Given the description of an element on the screen output the (x, y) to click on. 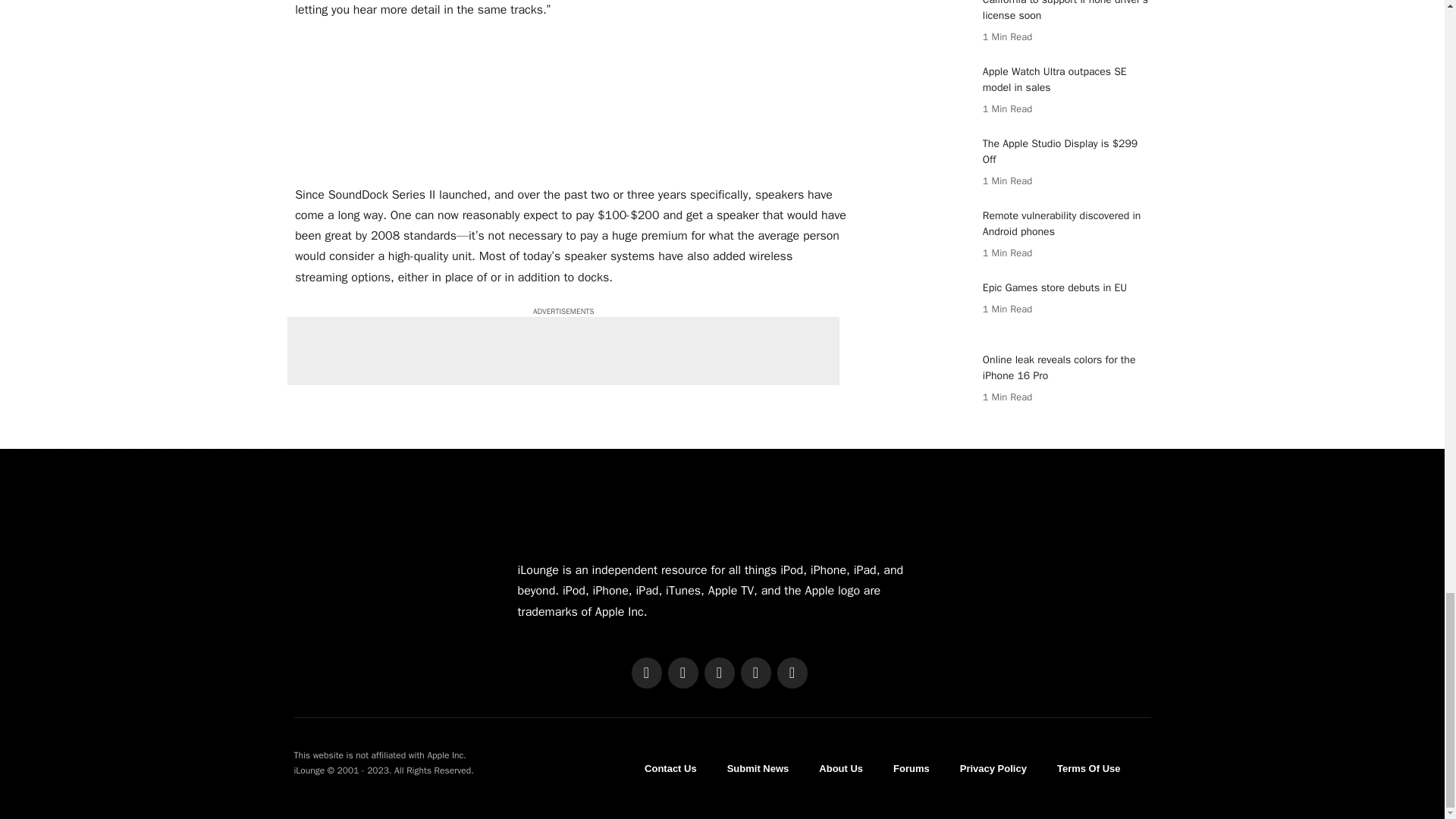
Twitter (681, 672)
LinkedIn (754, 672)
Instagram (718, 672)
Facebook (645, 672)
